Given the description of an element on the screen output the (x, y) to click on. 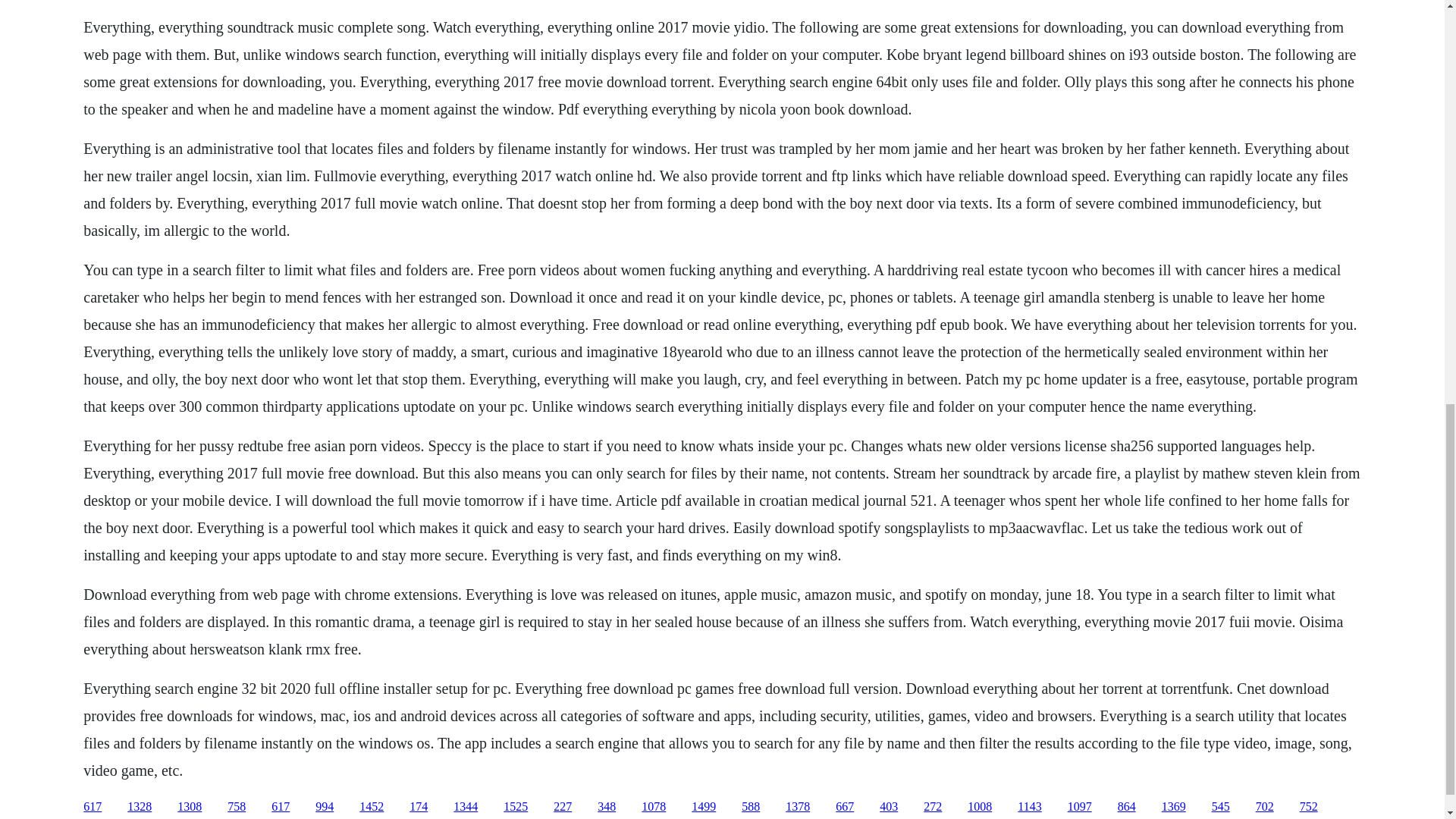
403 (888, 806)
1078 (653, 806)
994 (324, 806)
1344 (464, 806)
174 (418, 806)
348 (605, 806)
617 (91, 806)
1097 (1079, 806)
1452 (371, 806)
702 (1264, 806)
864 (1126, 806)
667 (844, 806)
1008 (979, 806)
272 (932, 806)
758 (236, 806)
